Given the description of an element on the screen output the (x, y) to click on. 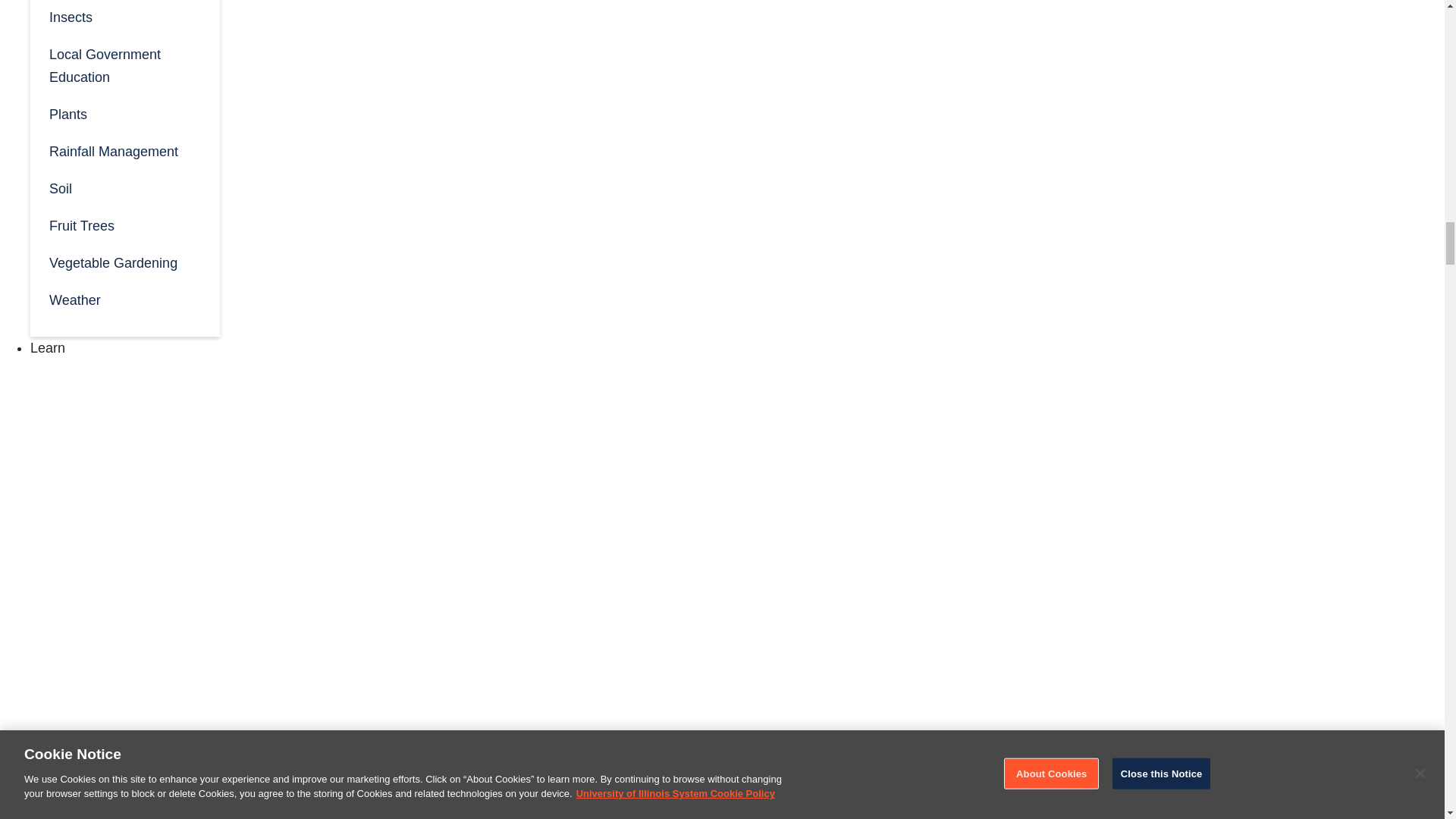
Learn (47, 347)
Fruit Trees (125, 224)
Weather (125, 298)
Local Government Education (125, 65)
Rainfall Management (125, 149)
Soil (125, 187)
Vegetable Gardening (125, 261)
Plants (125, 113)
Insects (125, 17)
